Given the description of an element on the screen output the (x, y) to click on. 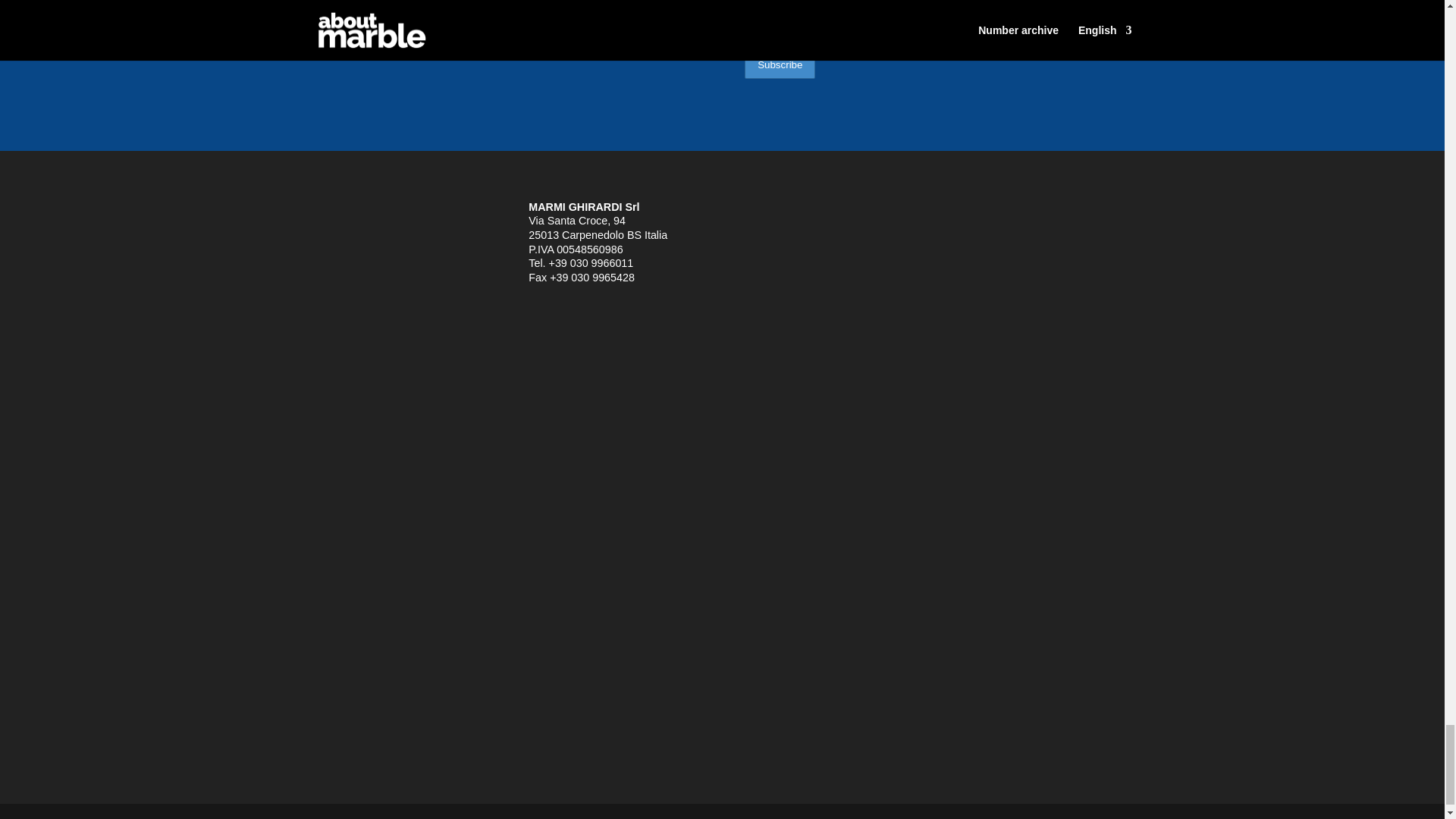
Subscribe (779, 64)
I declare that I have read the Privacy Policy (870, 39)
Subscribe (779, 64)
1 (749, 39)
